Given the description of an element on the screen output the (x, y) to click on. 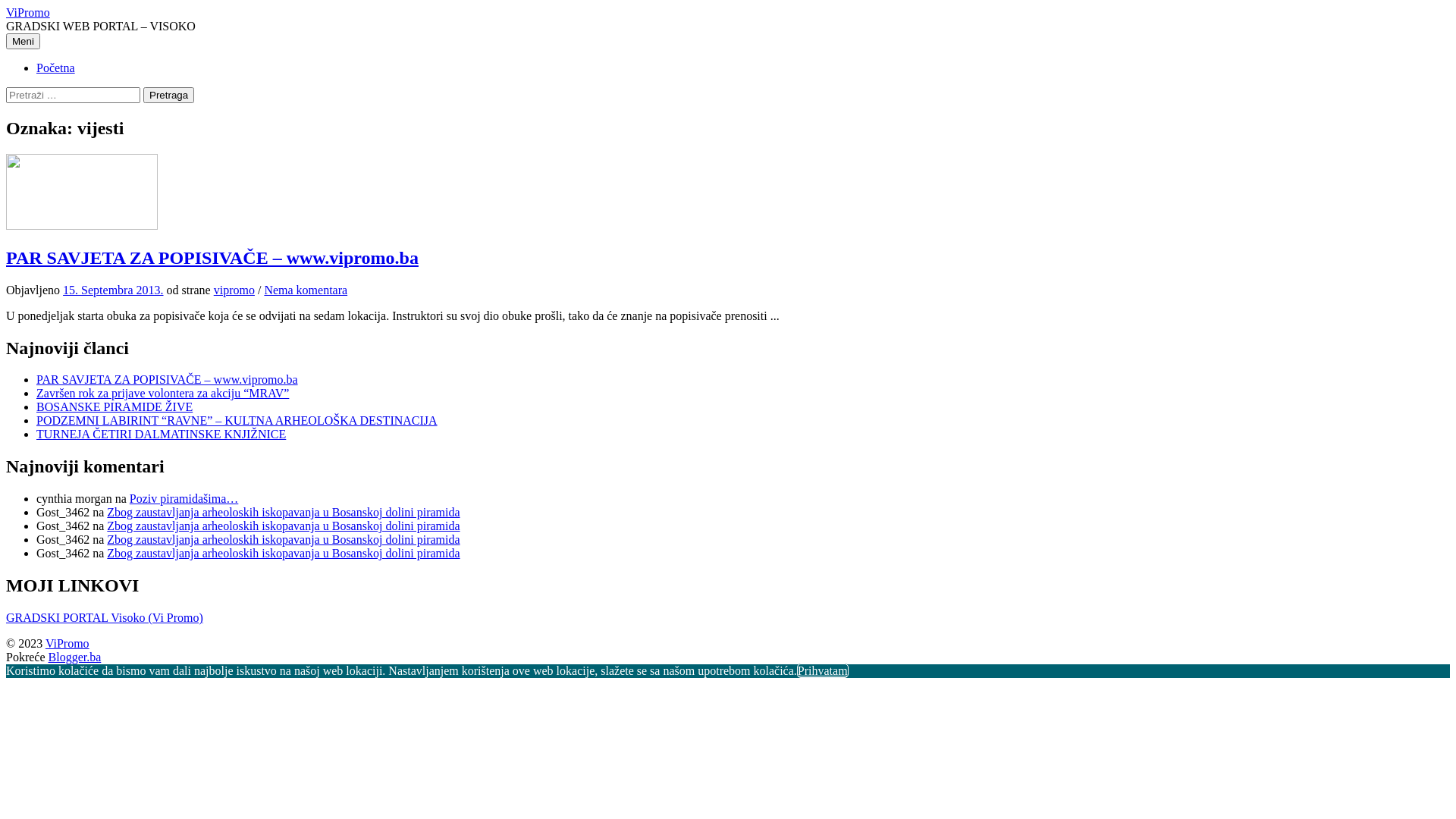
vipromo Element type: text (233, 289)
ViPromo Element type: text (28, 12)
ViPromo Element type: text (67, 643)
Pretraga Element type: text (168, 95)
Meni Element type: text (23, 41)
GRADSKI PORTAL Visoko (Vi Promo) Element type: text (104, 617)
Blogger.ba Element type: text (74, 656)
Prihvatam Element type: text (822, 670)
15. Septembra 2013. Element type: text (112, 289)
